Given the description of an element on the screen output the (x, y) to click on. 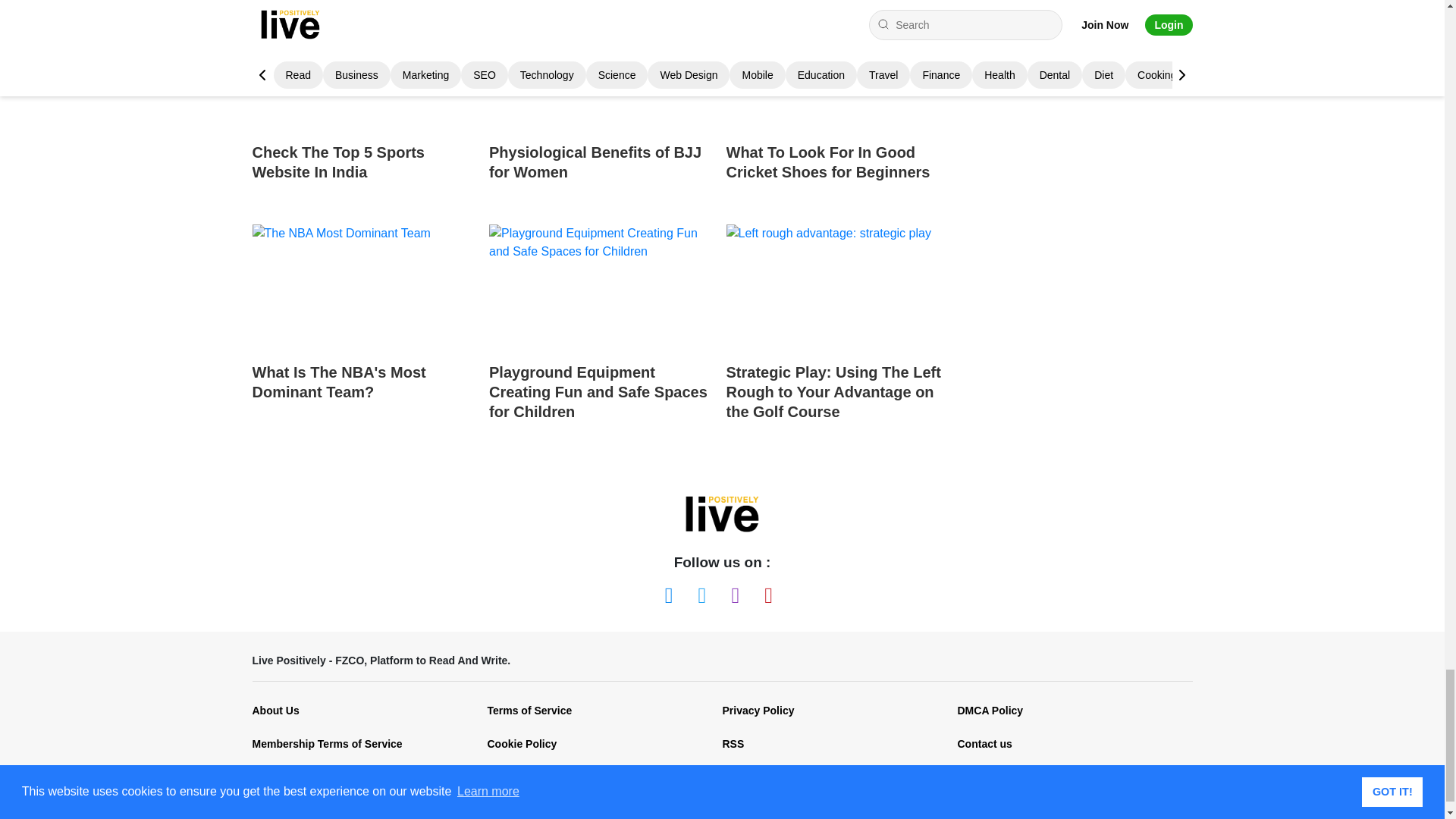
BJJ Women (601, 67)
The NBA Most Dominant Team (364, 287)
Good Cricket Shoes for Beginners (839, 67)
Left rough advantage: strategic play (839, 287)
Check The Top 5 Sports Website In India (364, 106)
What To Look For In Good Cricket Shoes for Beginners (839, 106)
Physiological Benefits of BJJ for Women (601, 106)
